Given the description of an element on the screen output the (x, y) to click on. 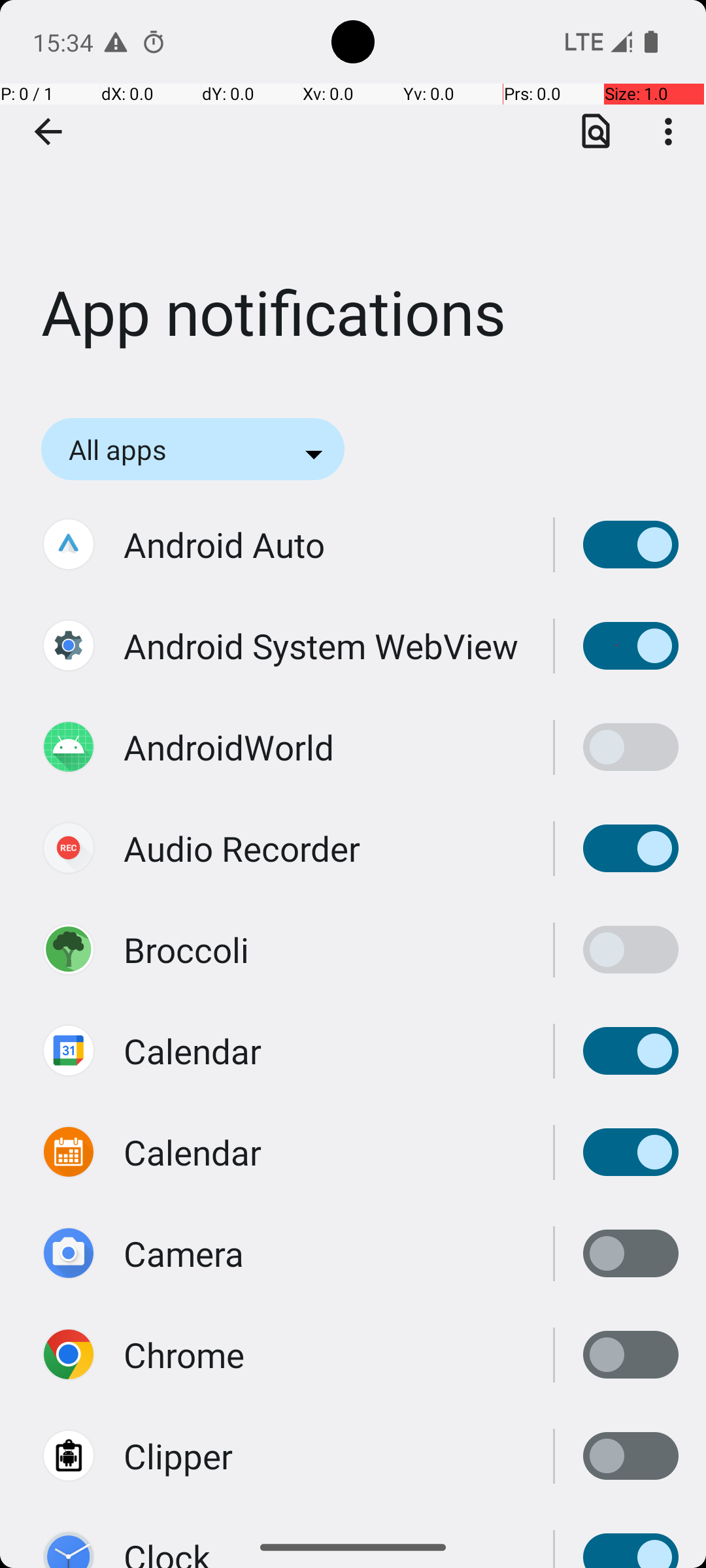
App notifications Element type: android.widget.FrameLayout (353, 195)
All apps Element type: android.widget.TextView (134, 448)
Android Auto Element type: android.widget.TextView (223, 544)
Android System WebView Element type: android.widget.TextView (320, 645)
AndroidWorld Element type: android.widget.TextView (228, 746)
Camera Element type: android.widget.TextView (183, 1253)
Clipper Element type: android.widget.TextView (177, 1455)
